Given the description of an element on the screen output the (x, y) to click on. 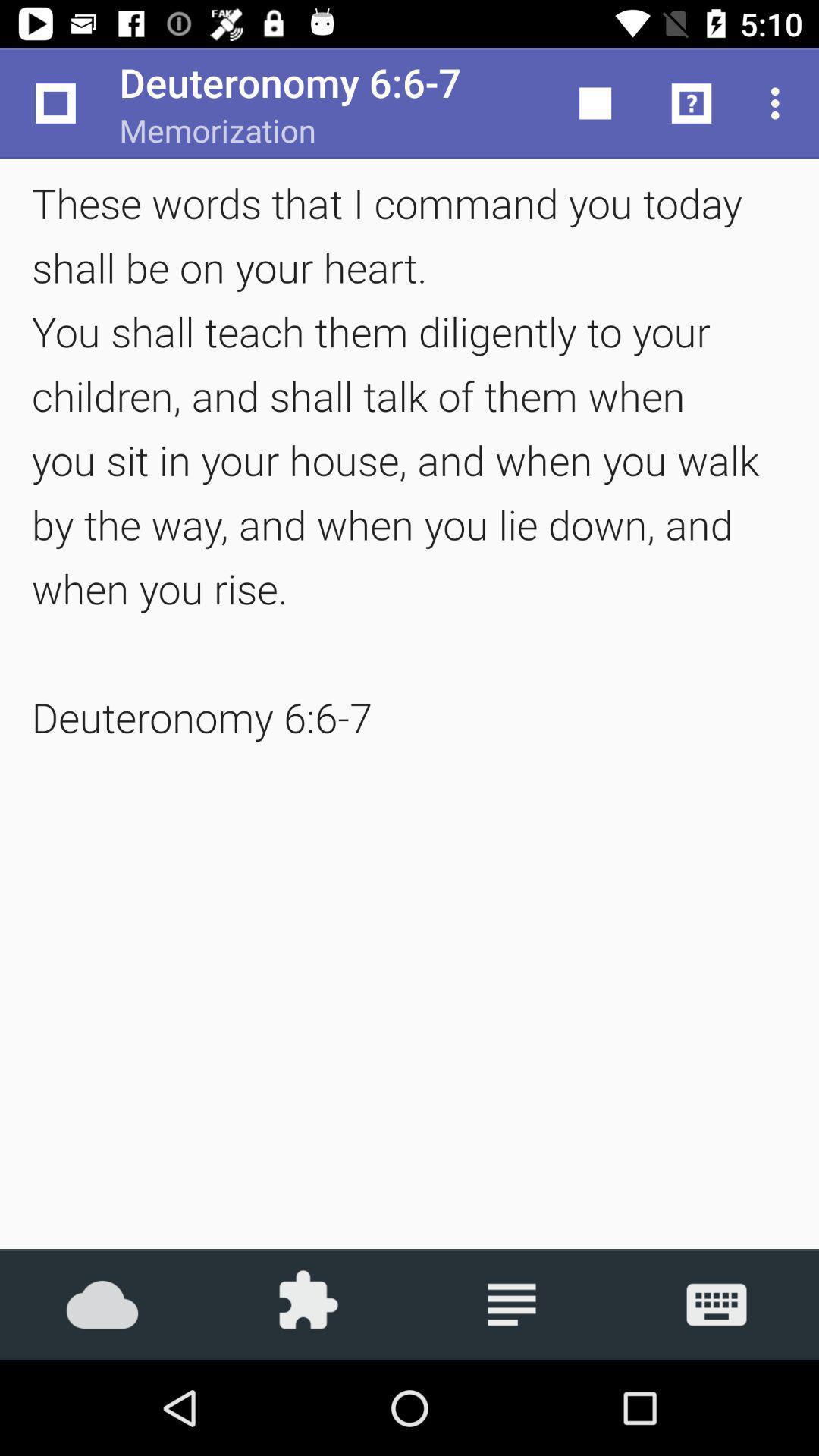
pull up keyboard (716, 1304)
